Given the description of an element on the screen output the (x, y) to click on. 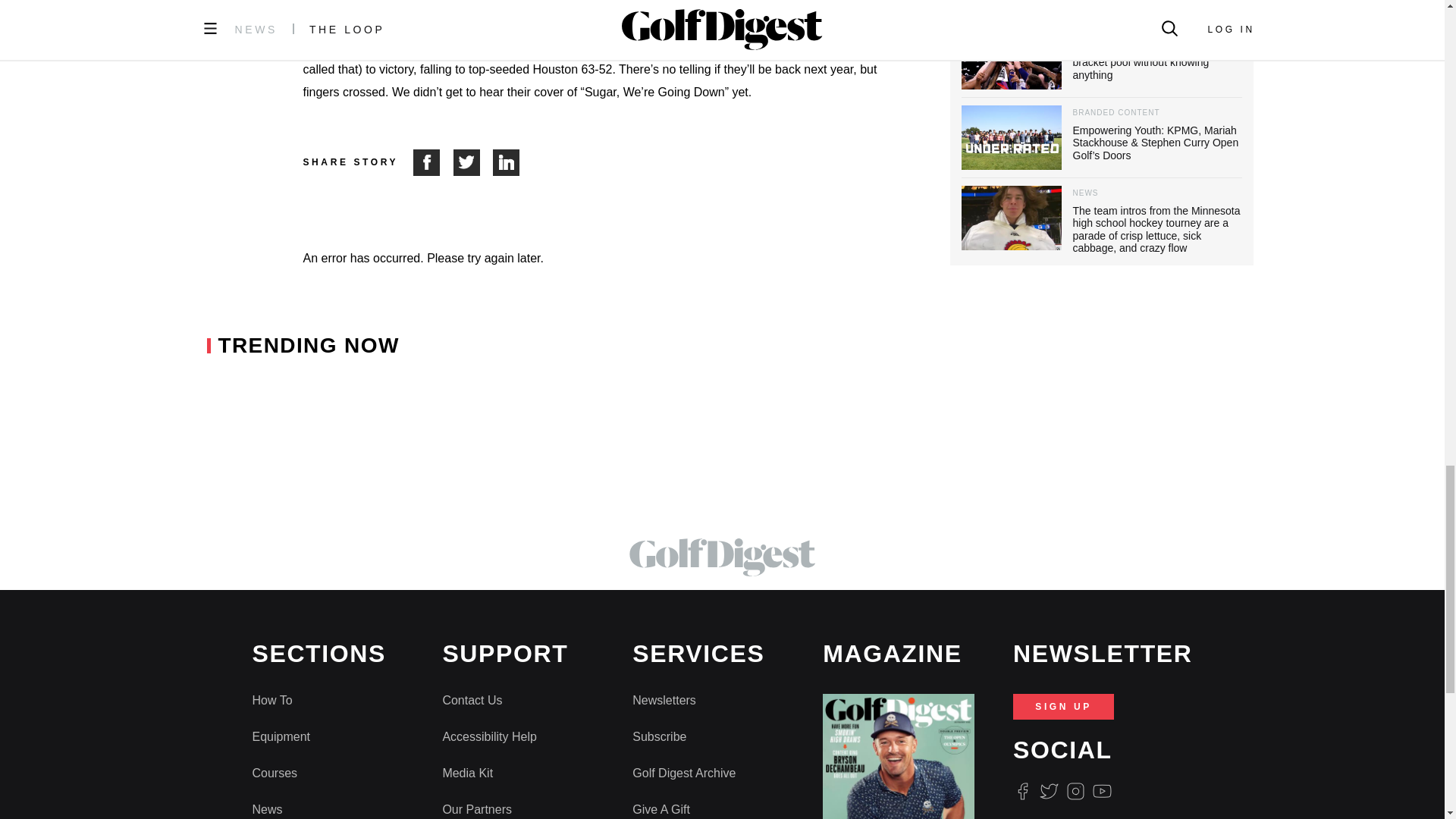
Facebook Logo (1022, 791)
Instagram Logo (1074, 791)
Youtube Icon (1102, 791)
Share on Facebook (432, 162)
Share on Twitter (472, 162)
Share on LinkedIn (506, 162)
Twitter Logo (1048, 791)
